Given the description of an element on the screen output the (x, y) to click on. 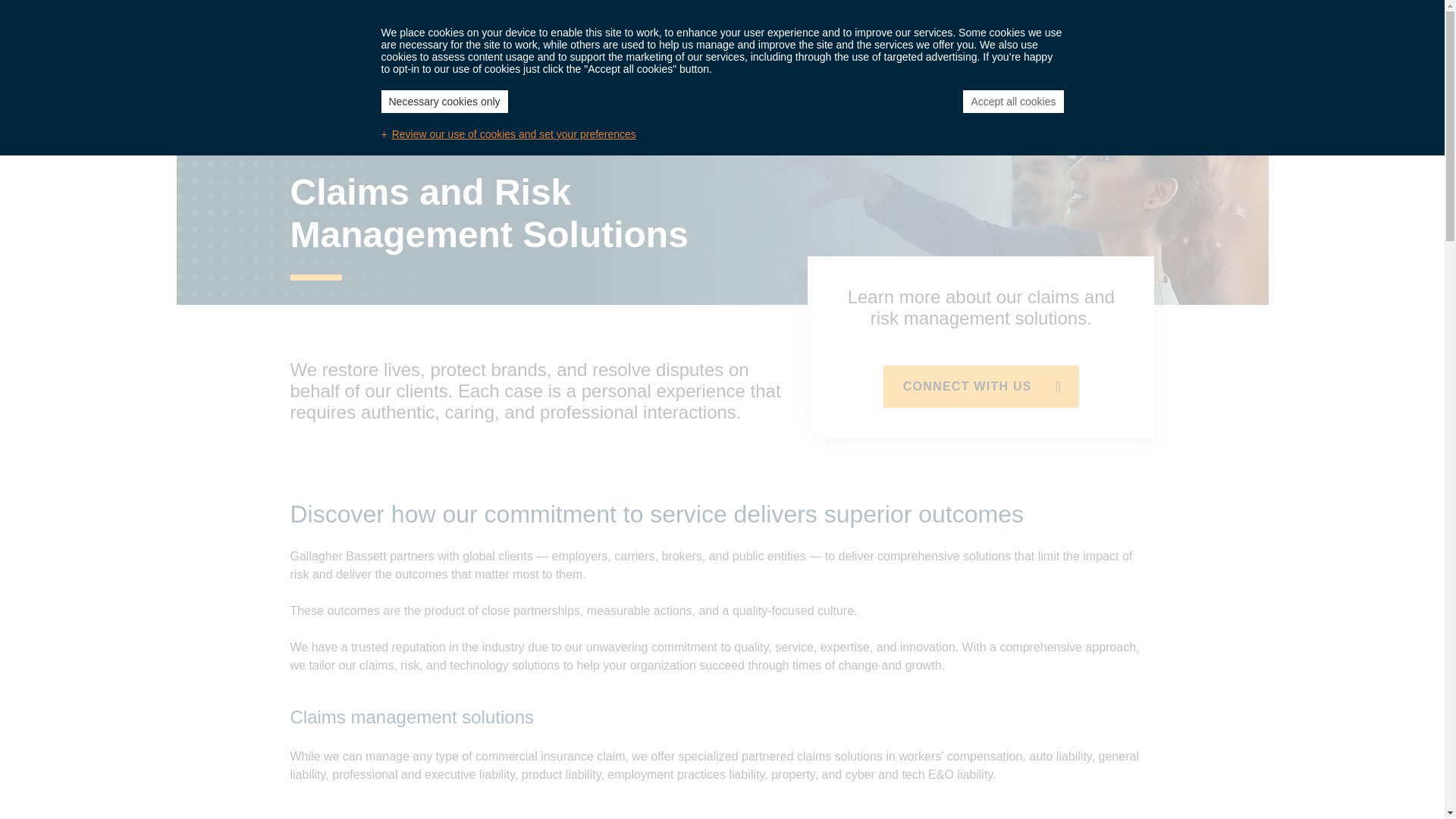
Information for Clients (683, 15)
Information for Claimants (837, 15)
Join Our Team (557, 15)
Solutions (700, 61)
Gallagher Bassett (398, 66)
North America (351, 17)
